Given the description of an element on the screen output the (x, y) to click on. 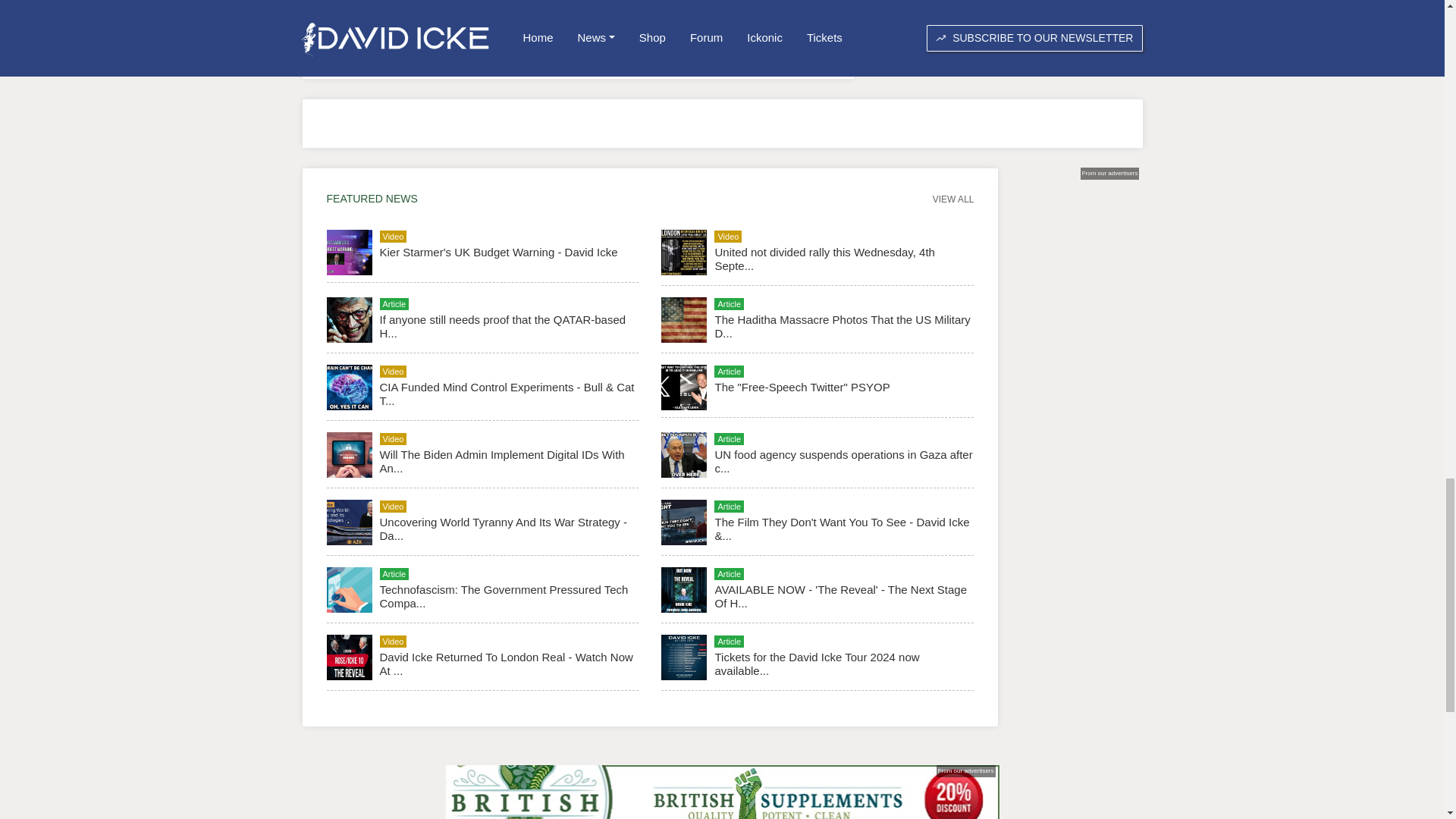
Featured (436, 4)
Coronavirus (360, 4)
Health (499, 4)
Kier Starmer's UK Budget Warning - David Icke (497, 251)
